Given the description of an element on the screen output the (x, y) to click on. 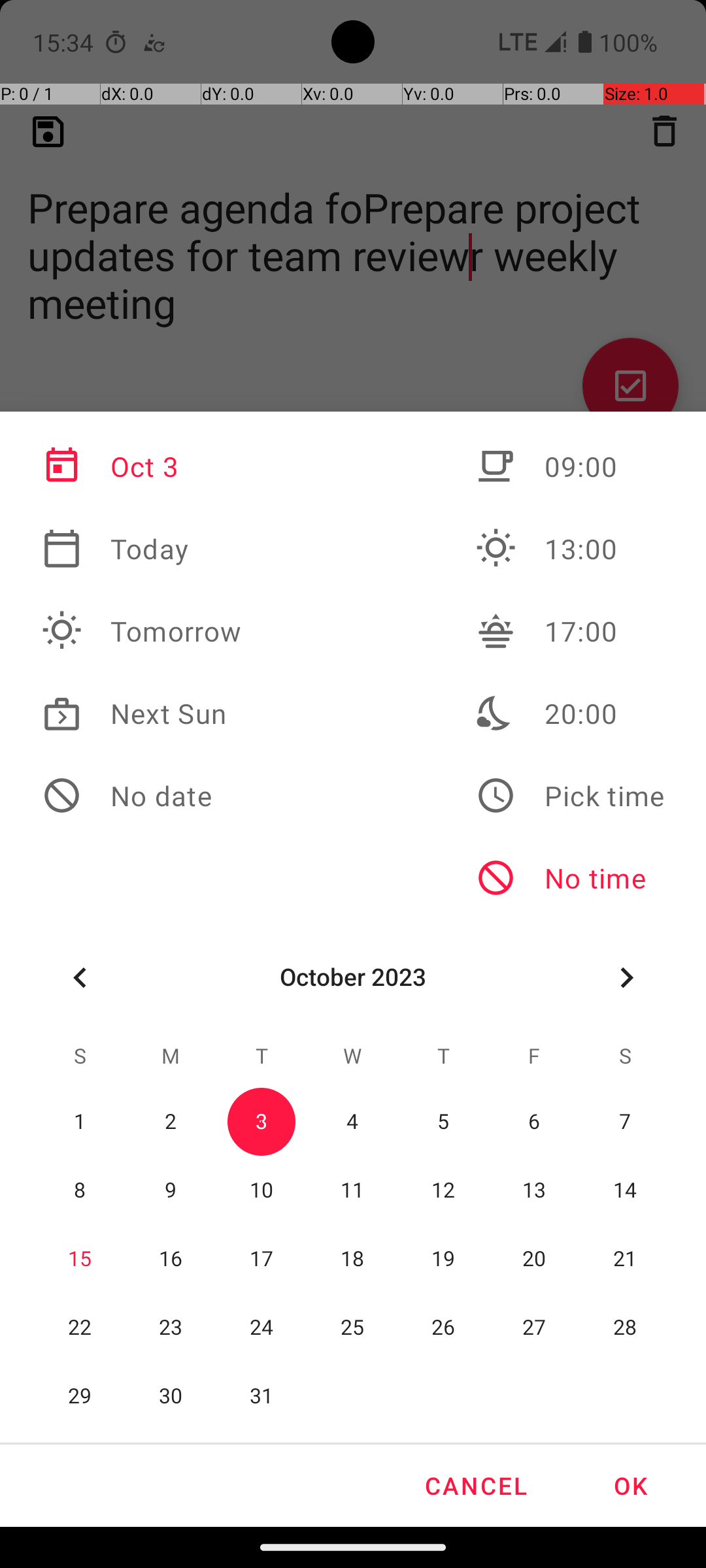
Oct 3 Element type: android.widget.CompoundButton (141, 466)
